Given the description of an element on the screen output the (x, y) to click on. 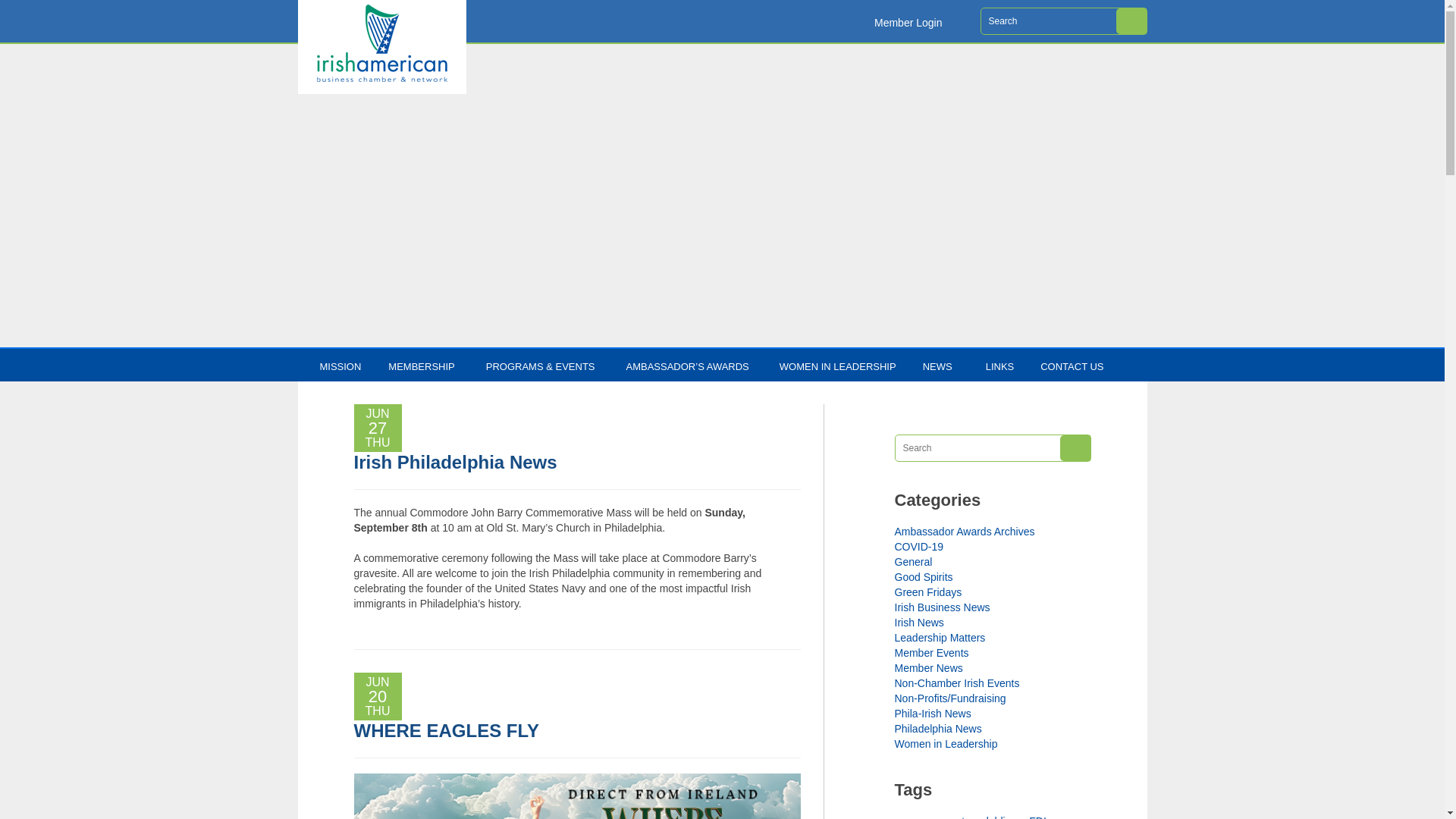
Search (1131, 21)
Search (1074, 447)
Member Login (920, 20)
Search (1131, 21)
MEMBERSHIP (431, 359)
Search (1074, 447)
Search (1131, 21)
MISSION (347, 359)
